Given the description of an element on the screen output the (x, y) to click on. 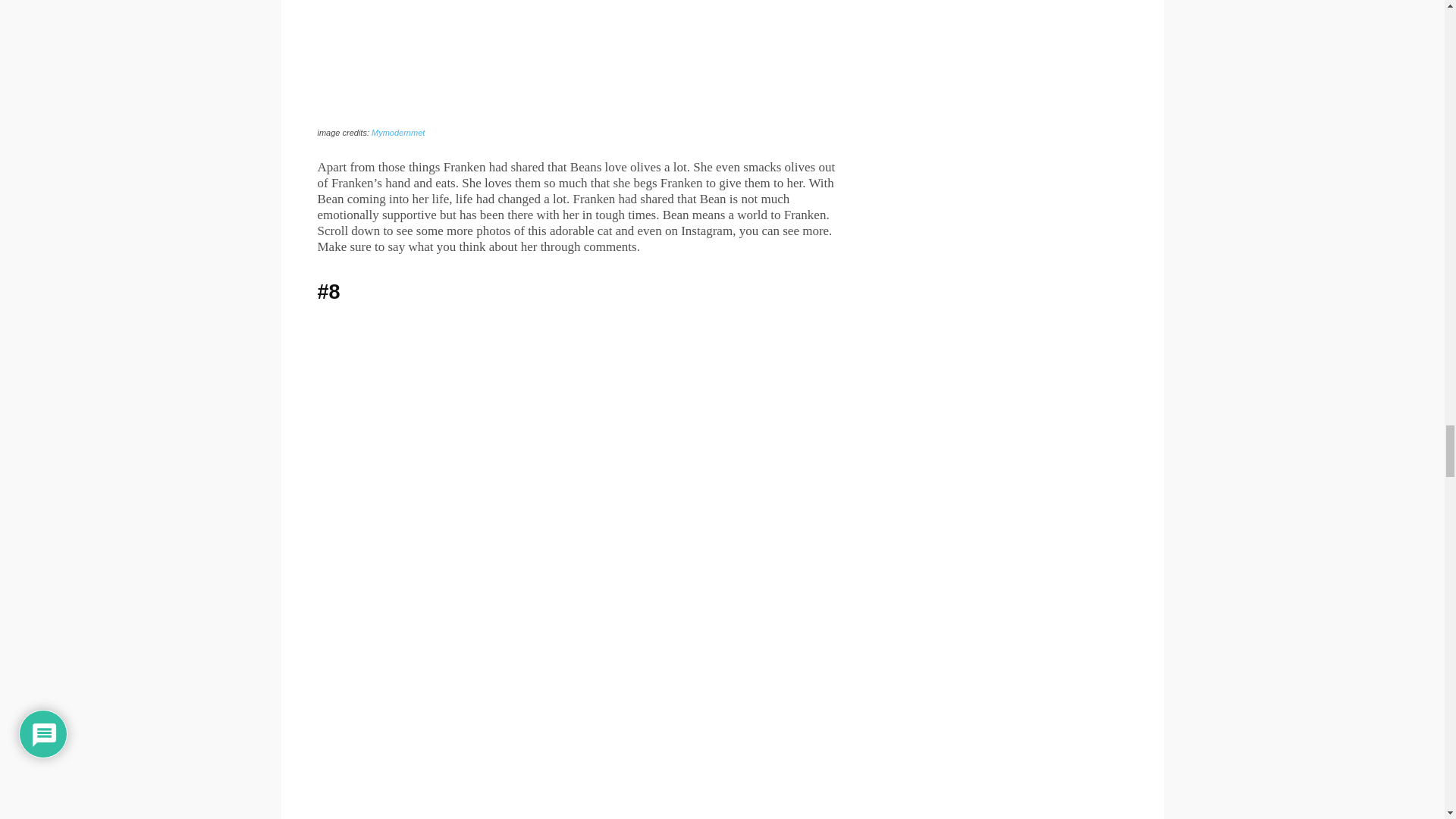
Mymodernmet (398, 132)
